Given the description of an element on the screen output the (x, y) to click on. 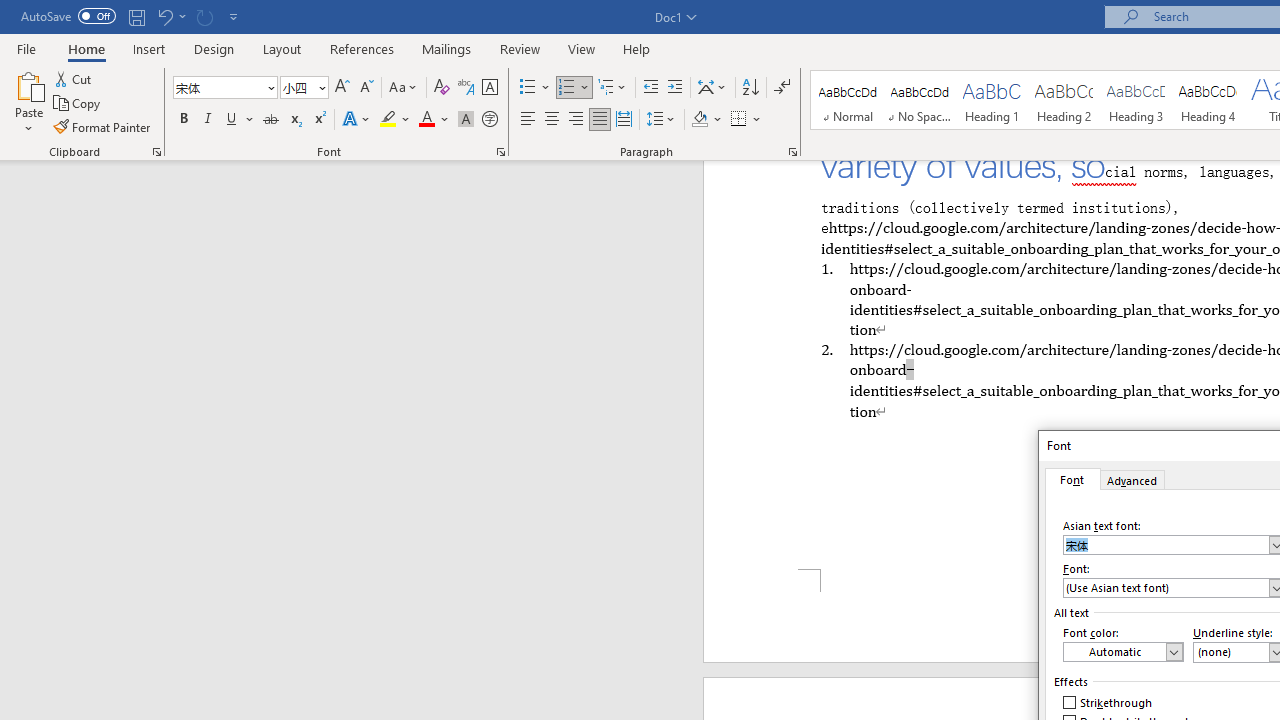
Paste (28, 84)
Subscript (294, 119)
Font (218, 87)
Distributed (623, 119)
Bullets (527, 87)
Heading 2 (1063, 100)
Save (136, 15)
Mailings (447, 48)
Format Painter (103, 126)
Text Effects and Typography (357, 119)
Phonetic Guide... (465, 87)
Decrease Indent (650, 87)
Align Left (527, 119)
Align Right (575, 119)
